Given the description of an element on the screen output the (x, y) to click on. 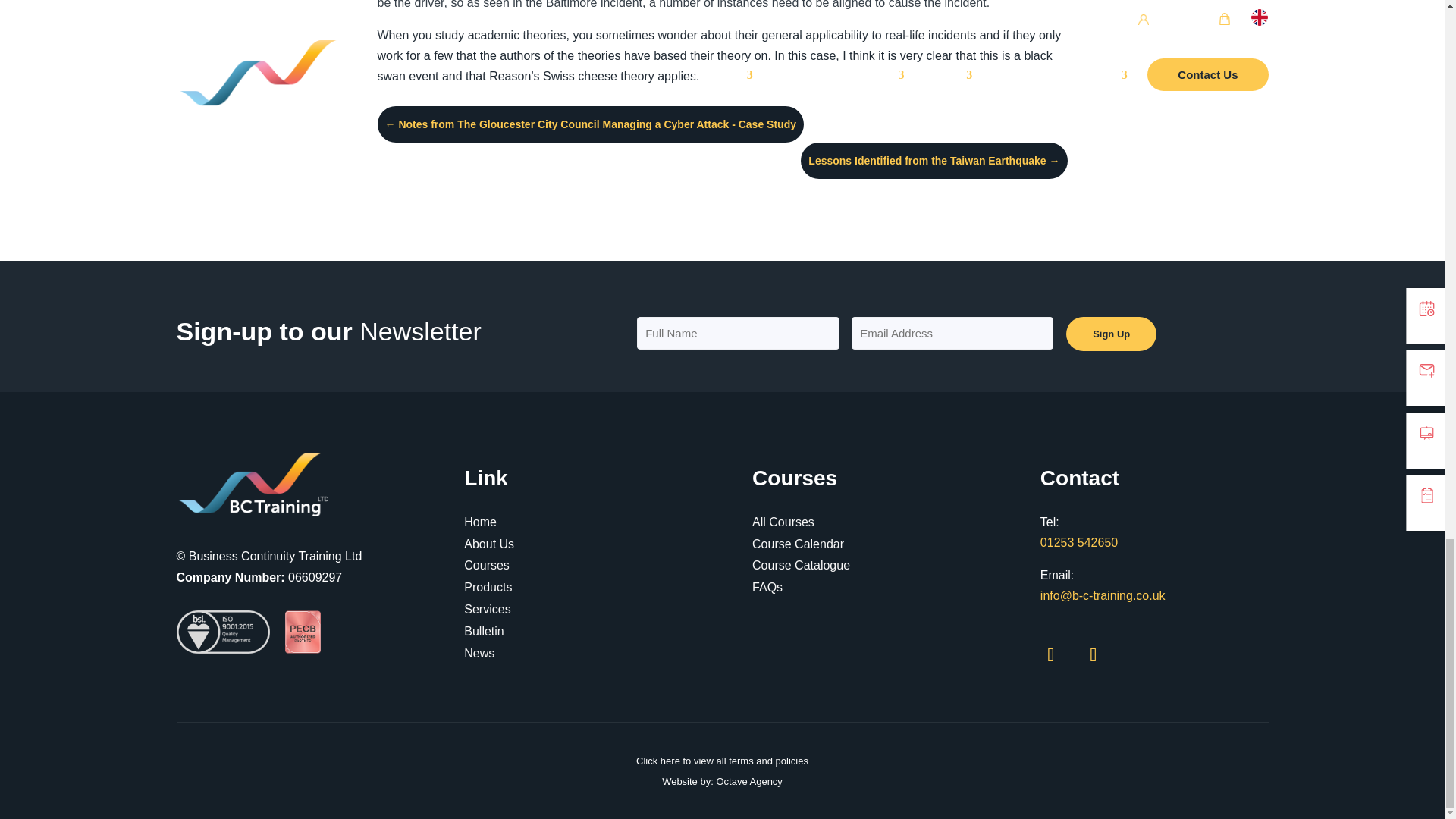
Sign Up (1110, 333)
Follow on X (1050, 654)
BC Training Logo White (251, 484)
Follow on LinkedIn (1093, 654)
